Given the description of an element on the screen output the (x, y) to click on. 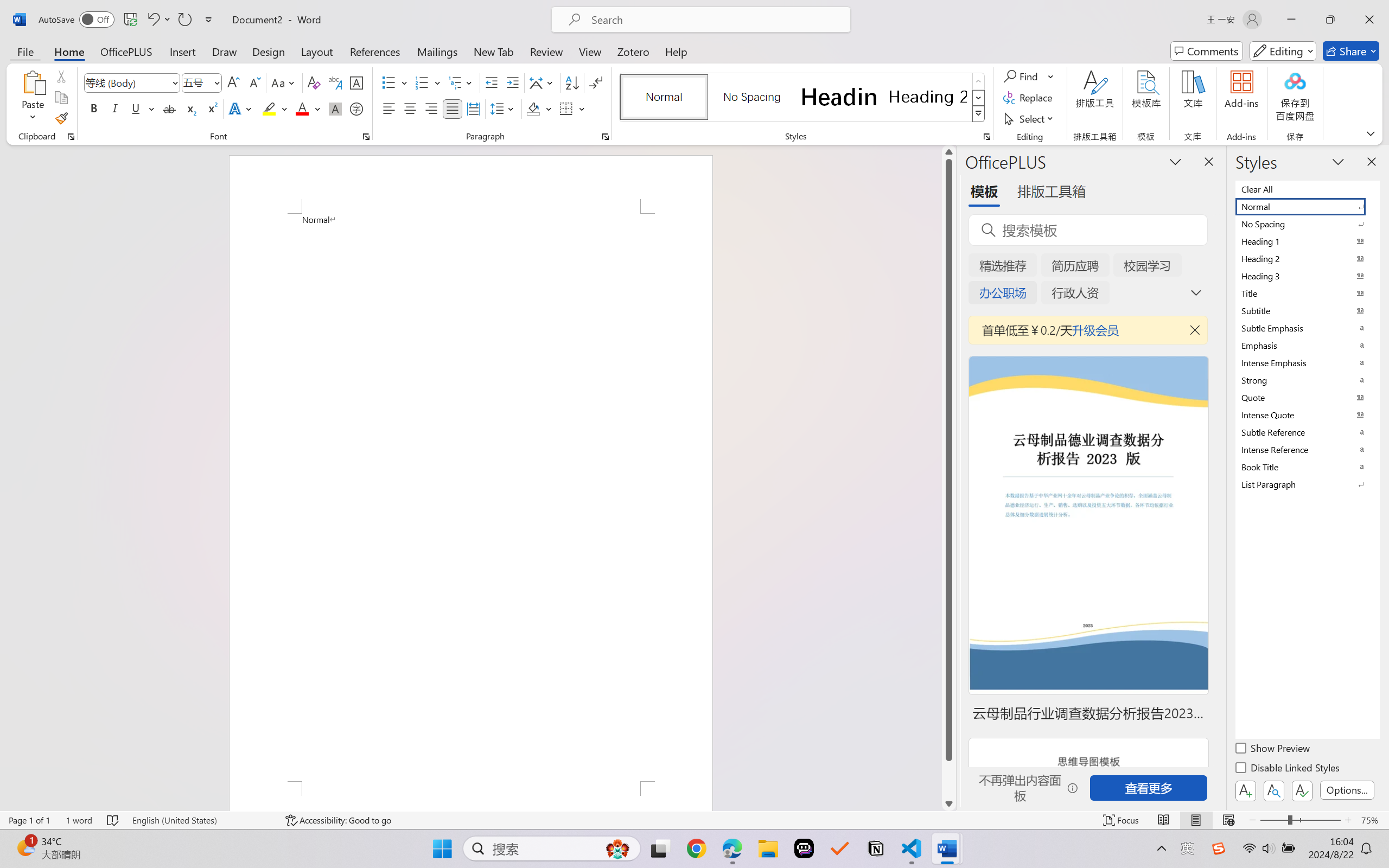
Align Right (431, 108)
Class: NetUIImage (978, 114)
Text Highlight Color (274, 108)
Emphasis (1306, 345)
Font... (365, 136)
Home (69, 51)
Shading (539, 108)
Bullets (388, 82)
Numbering (421, 82)
Draw (224, 51)
